Given the description of an element on the screen output the (x, y) to click on. 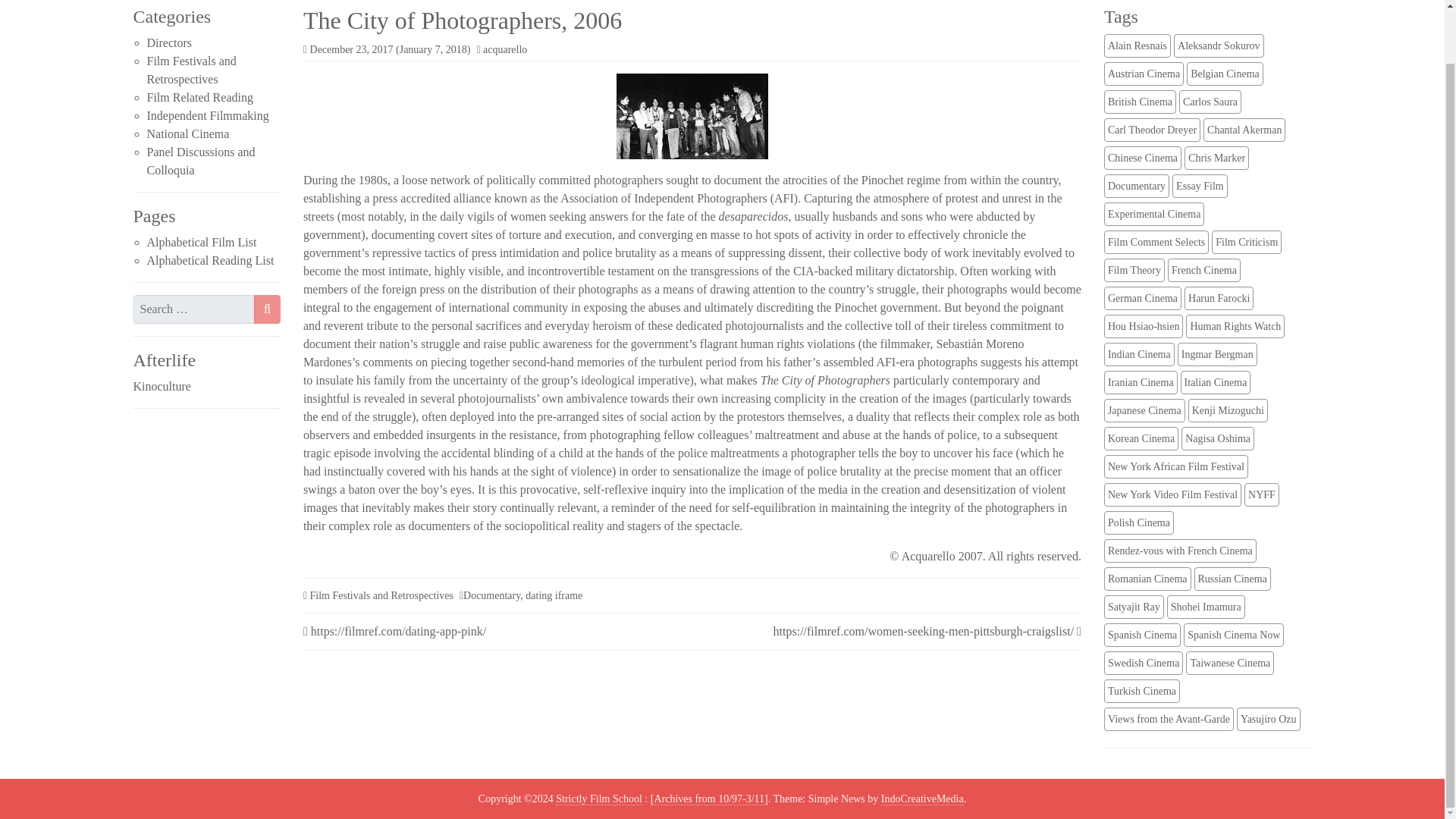
Film Comment Selects (1155, 241)
Film Festivals and Retrospectives (381, 595)
Belgian Cinema (1224, 73)
Film Criticism (1246, 241)
French Cinema (1203, 269)
German Cinema (1141, 298)
Film Theory (1133, 269)
dating iframe (553, 595)
Film Festivals and Retrospectives (191, 69)
Experimental Cinema (1153, 214)
Aleksandr Sokurov (1218, 45)
Film Related Reading (200, 97)
National Cinema (188, 133)
Alain Resnais (1136, 45)
Austrian Cinema (1143, 73)
